Given the description of an element on the screen output the (x, y) to click on. 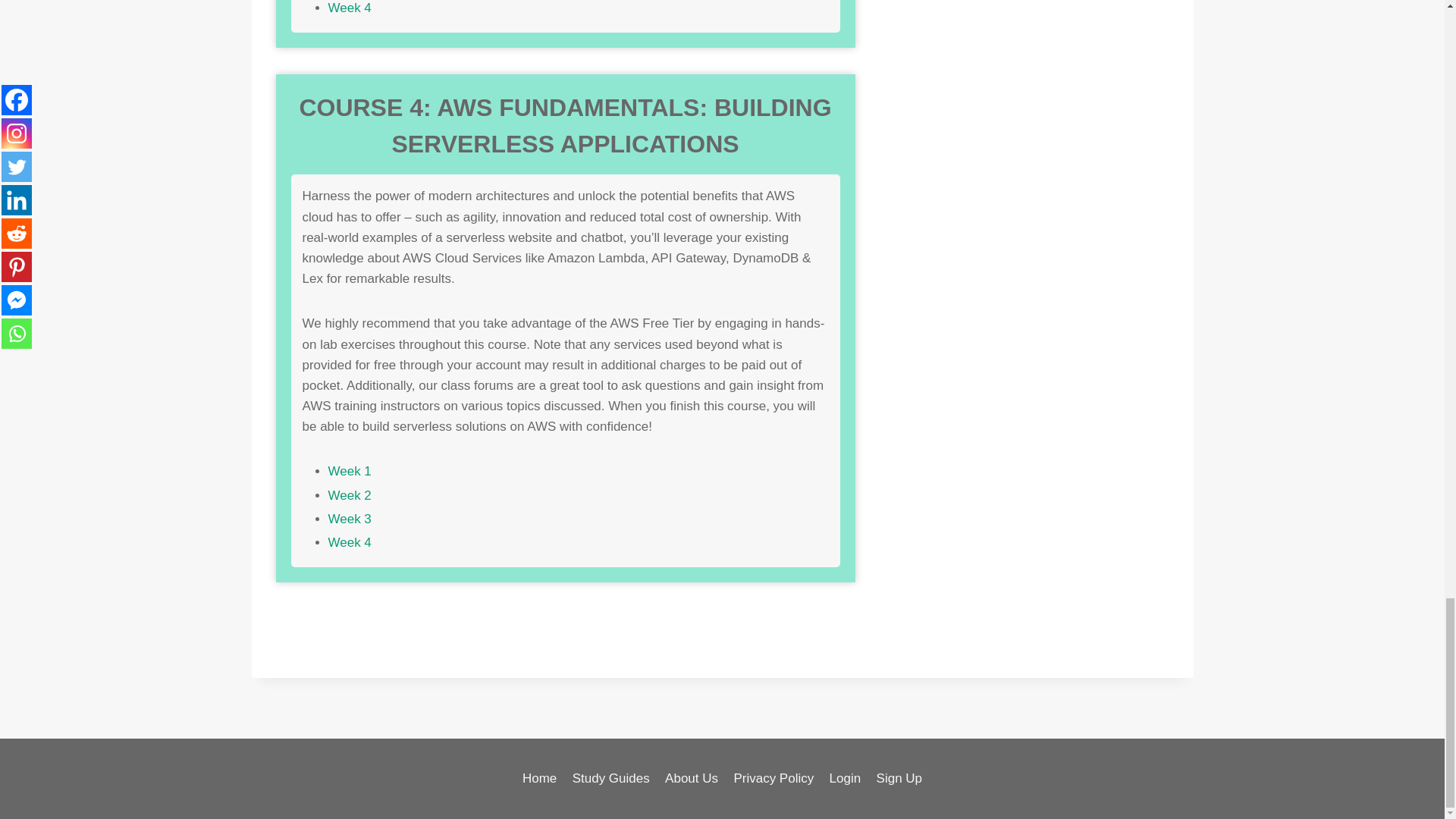
Week 4 (349, 542)
Week 4 (349, 7)
Week 3 (349, 518)
Week 2 (349, 495)
Week 1 (349, 471)
